Given the description of an element on the screen output the (x, y) to click on. 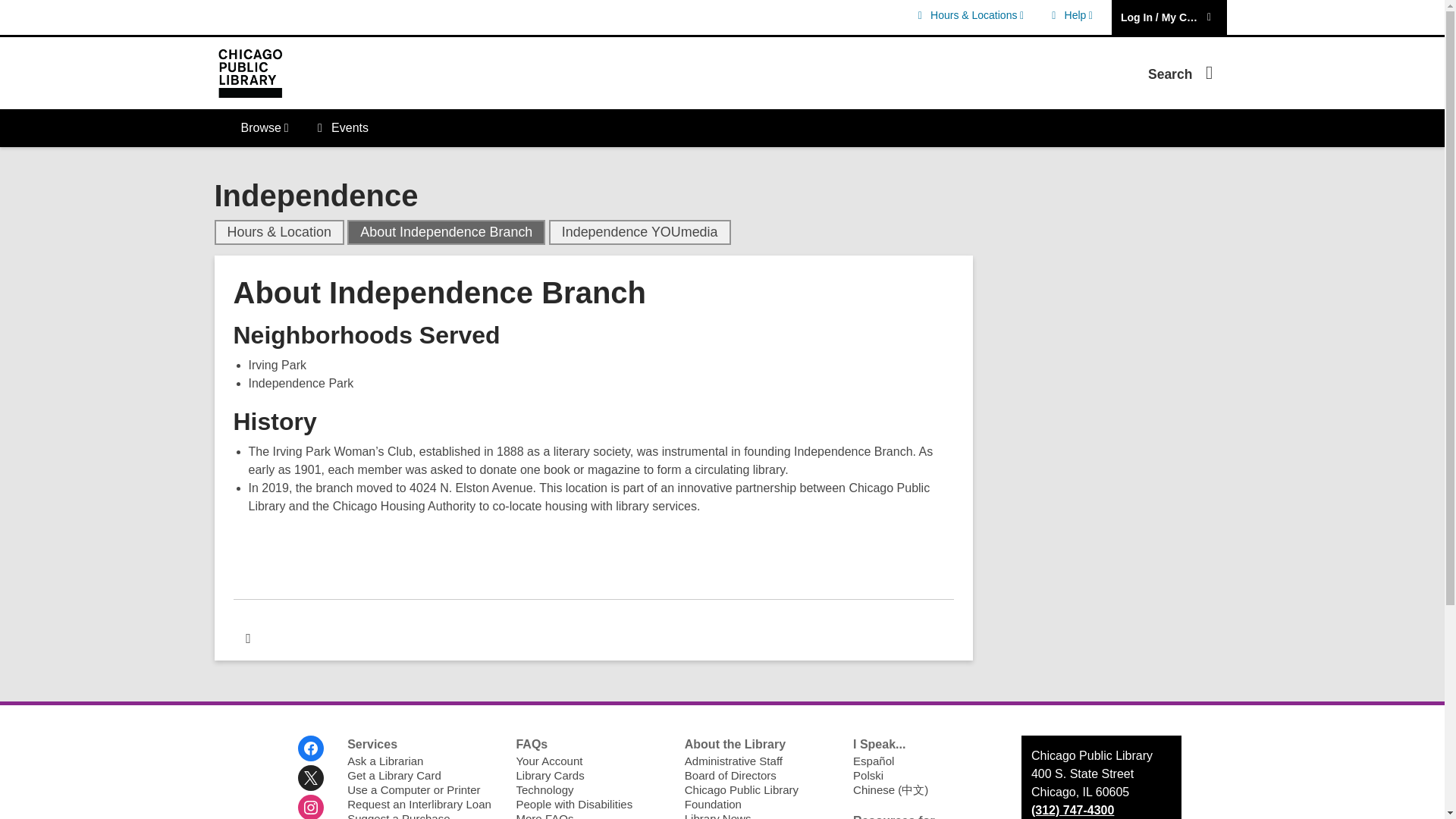
Search (1069, 15)
